Given the description of an element on the screen output the (x, y) to click on. 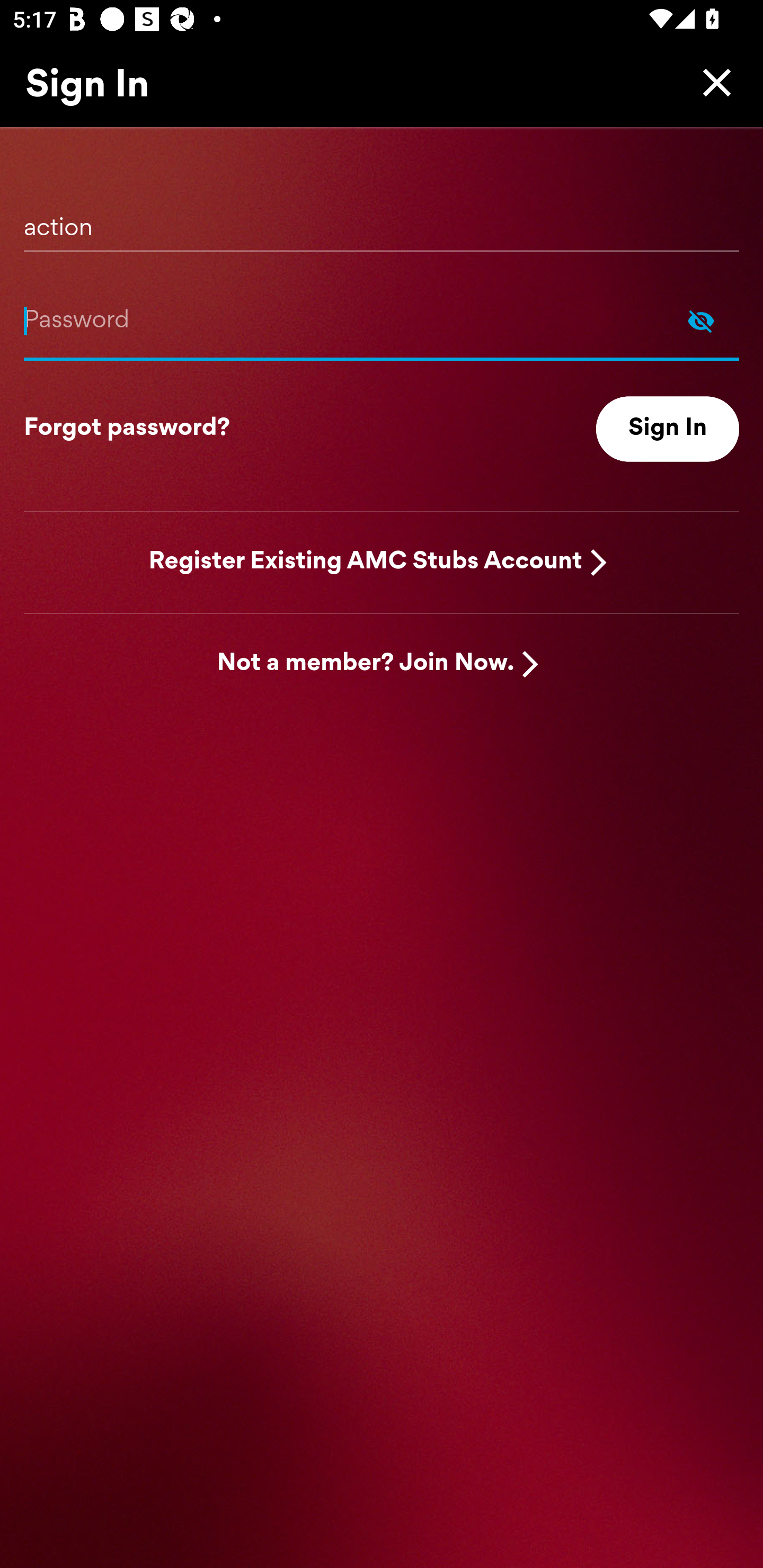
Close (712, 82)
action (381, 220)
Hide Password (381, 320)
Hide Password (701, 320)
Forgot password? (126, 428)
Sign In (667, 428)
Register Existing AMC Stubs Account (365, 561)
Not a member? Join Now. (365, 663)
